Given the description of an element on the screen output the (x, y) to click on. 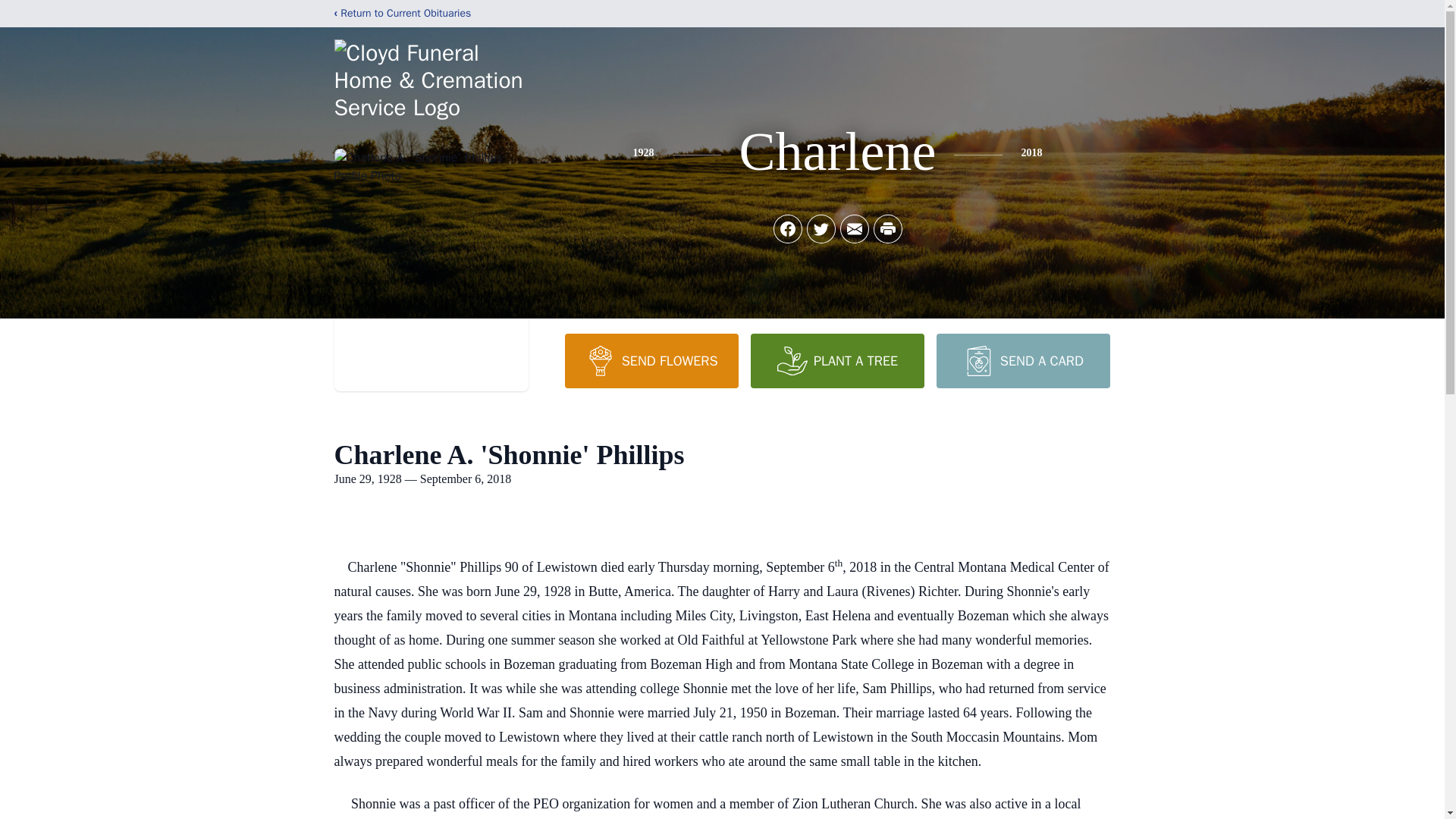
SEND A CARD (1022, 360)
SEND FLOWERS (651, 360)
PLANT A TREE (837, 360)
